Given the description of an element on the screen output the (x, y) to click on. 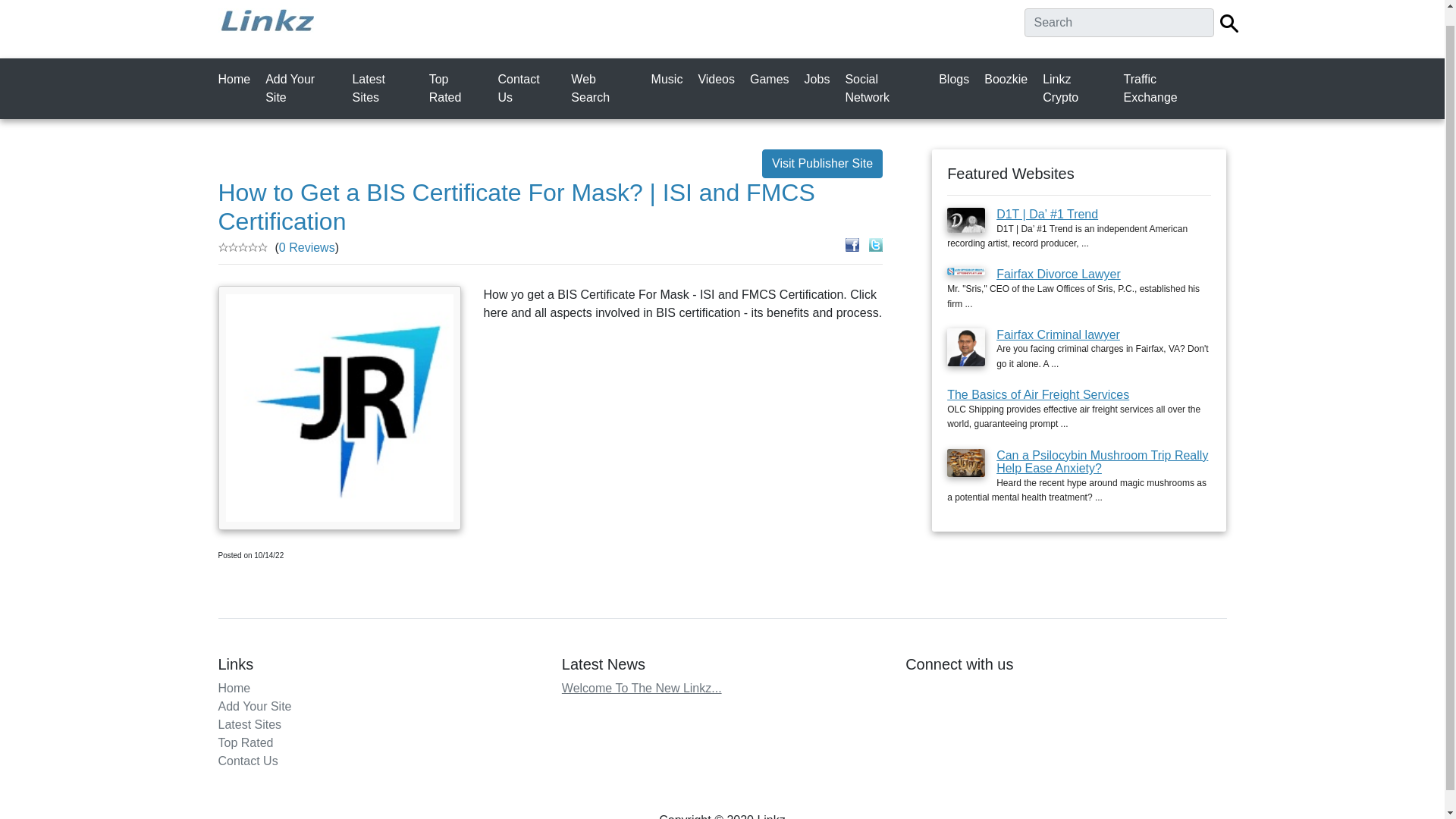
The Basics of Air Freight Services (1038, 394)
Can a Psilocybin Mushroom Trip Really Help Ease Anxiety? (1101, 461)
Contact Us (529, 88)
Top Rated (245, 742)
Games (771, 79)
Visit Publisher Site (821, 163)
Fairfax Divorce Lawyer (1058, 273)
Welcome To The New Linkz... (642, 687)
Home (234, 687)
Blogs (957, 79)
Add Your Site (303, 88)
Home (237, 79)
Boozkie (1008, 79)
Linkz Crypto (1077, 88)
0 Reviews (306, 246)
